Given the description of an element on the screen output the (x, y) to click on. 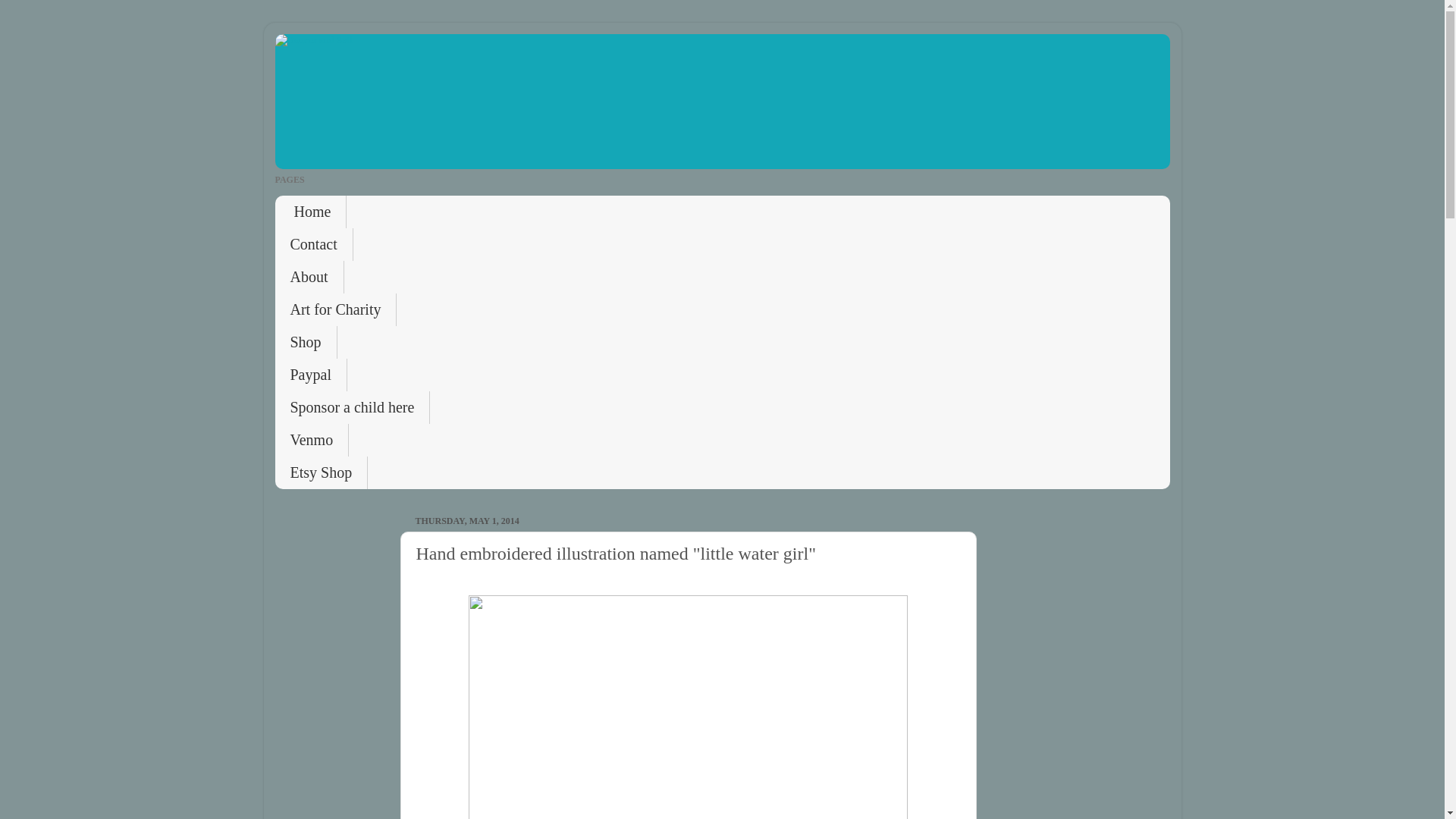
Paypal (310, 374)
Home (310, 211)
About (309, 277)
Sponsor a child here (352, 407)
Venmo (312, 440)
Contact (313, 244)
Shop (305, 341)
Etsy Shop (321, 472)
Art for Charity (335, 309)
